Given the description of an element on the screen output the (x, y) to click on. 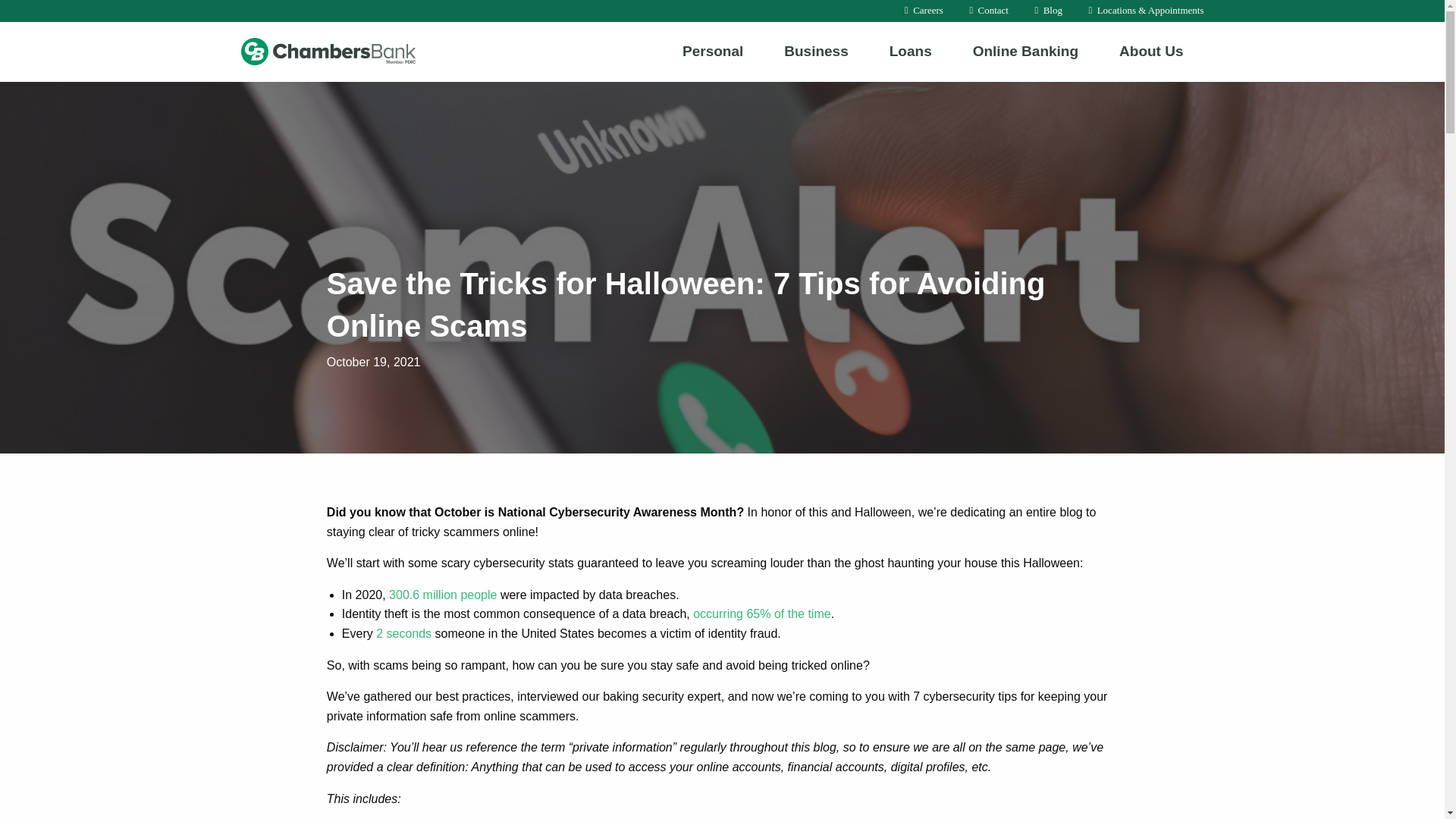
  Blog (1048, 11)
  Contact (989, 11)
Business (814, 50)
  Careers (924, 11)
Online Banking (1025, 50)
Loans (910, 50)
Personal (712, 50)
